Given the description of an element on the screen output the (x, y) to click on. 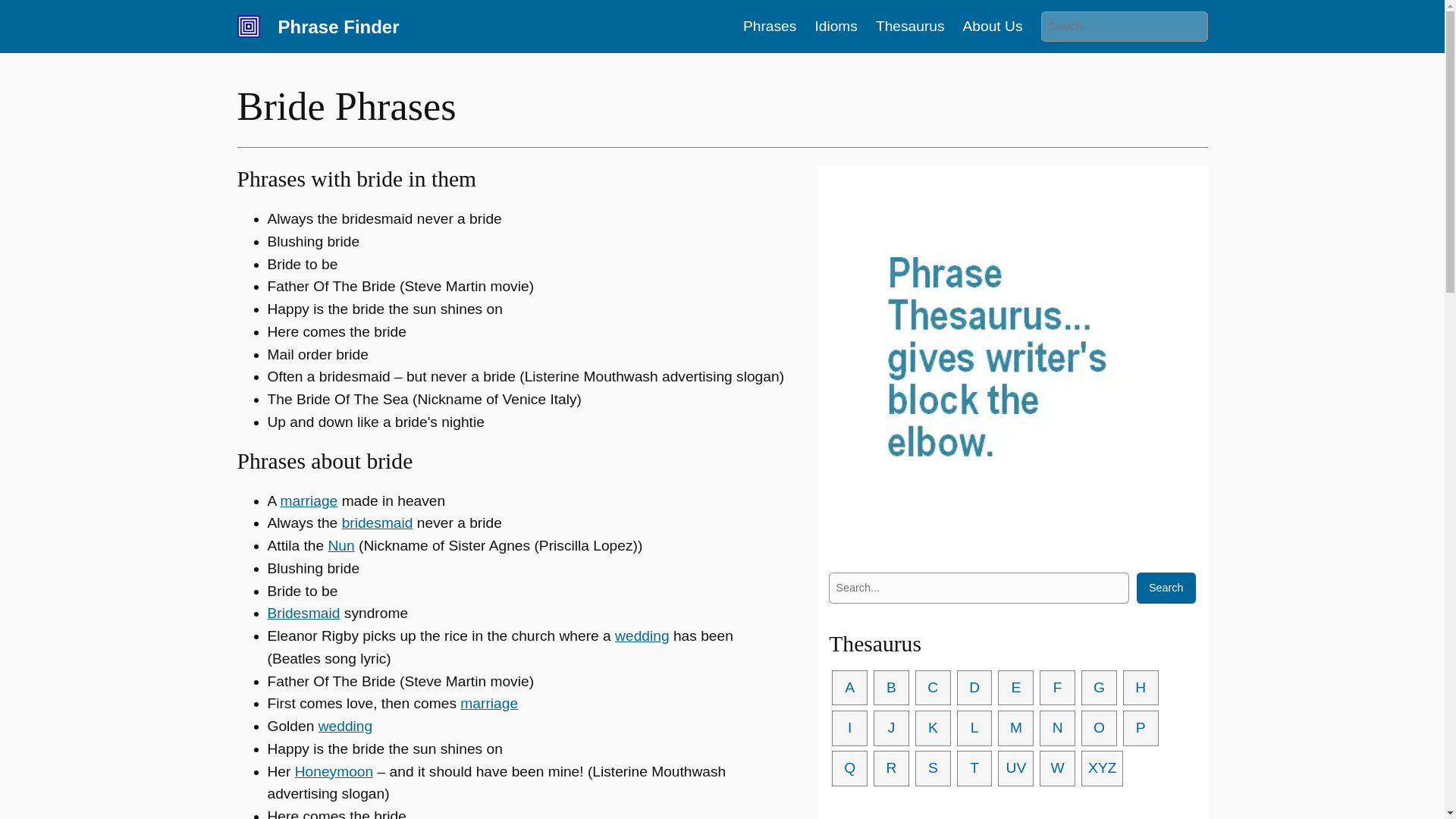
wedding (641, 635)
bridesmaid (377, 522)
marriage (489, 703)
About Us (992, 26)
Nun (340, 545)
Bridesmaid (302, 612)
wedding (345, 725)
Honeymoon (333, 771)
wedding (641, 635)
bridesmaid (377, 522)
